Given the description of an element on the screen output the (x, y) to click on. 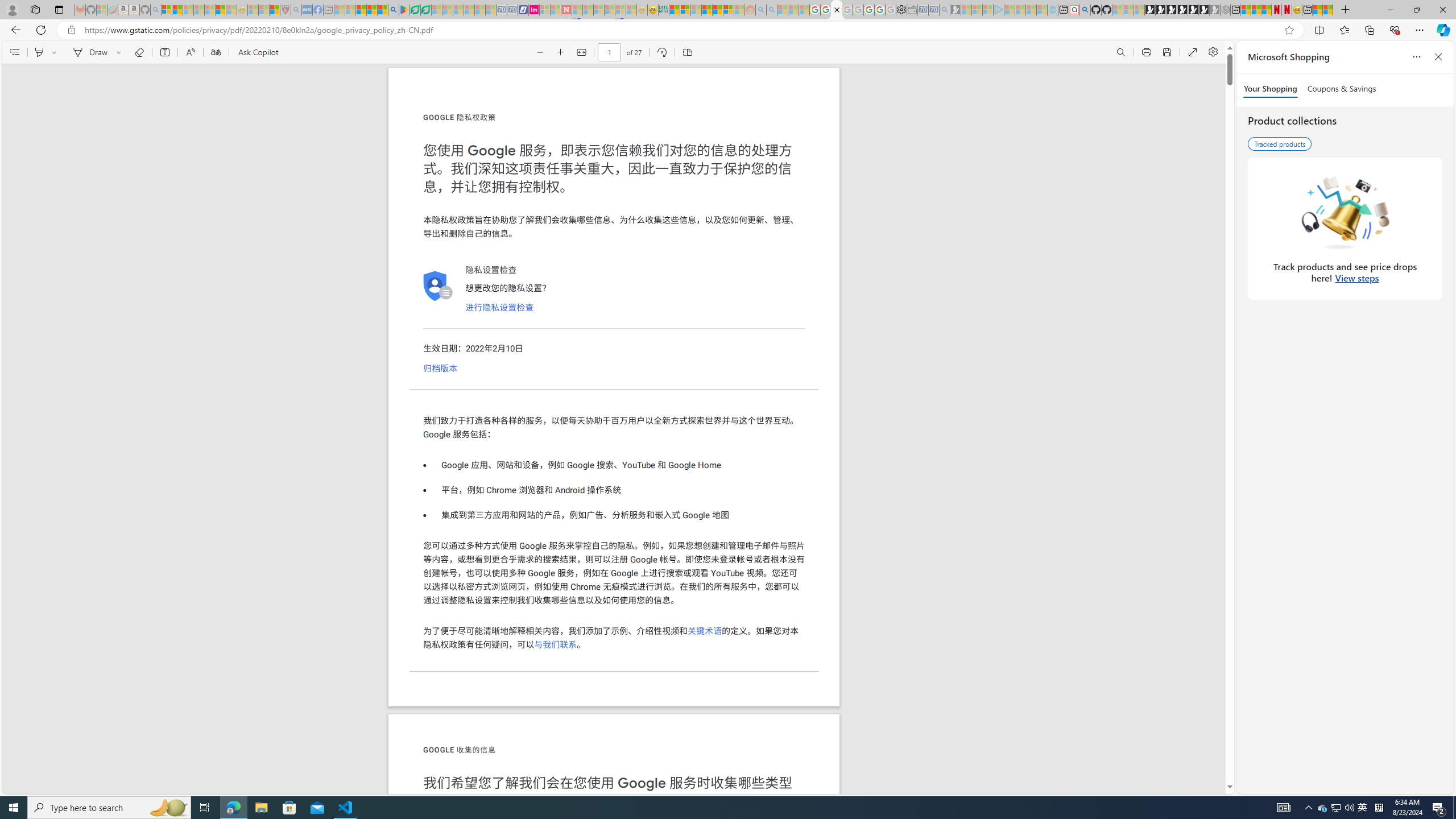
Read aloud (189, 52)
Jobs - lastminute.com Investor Portal (534, 9)
Find (Ctrl + F) (1120, 52)
Translate (215, 52)
